Given the description of an element on the screen output the (x, y) to click on. 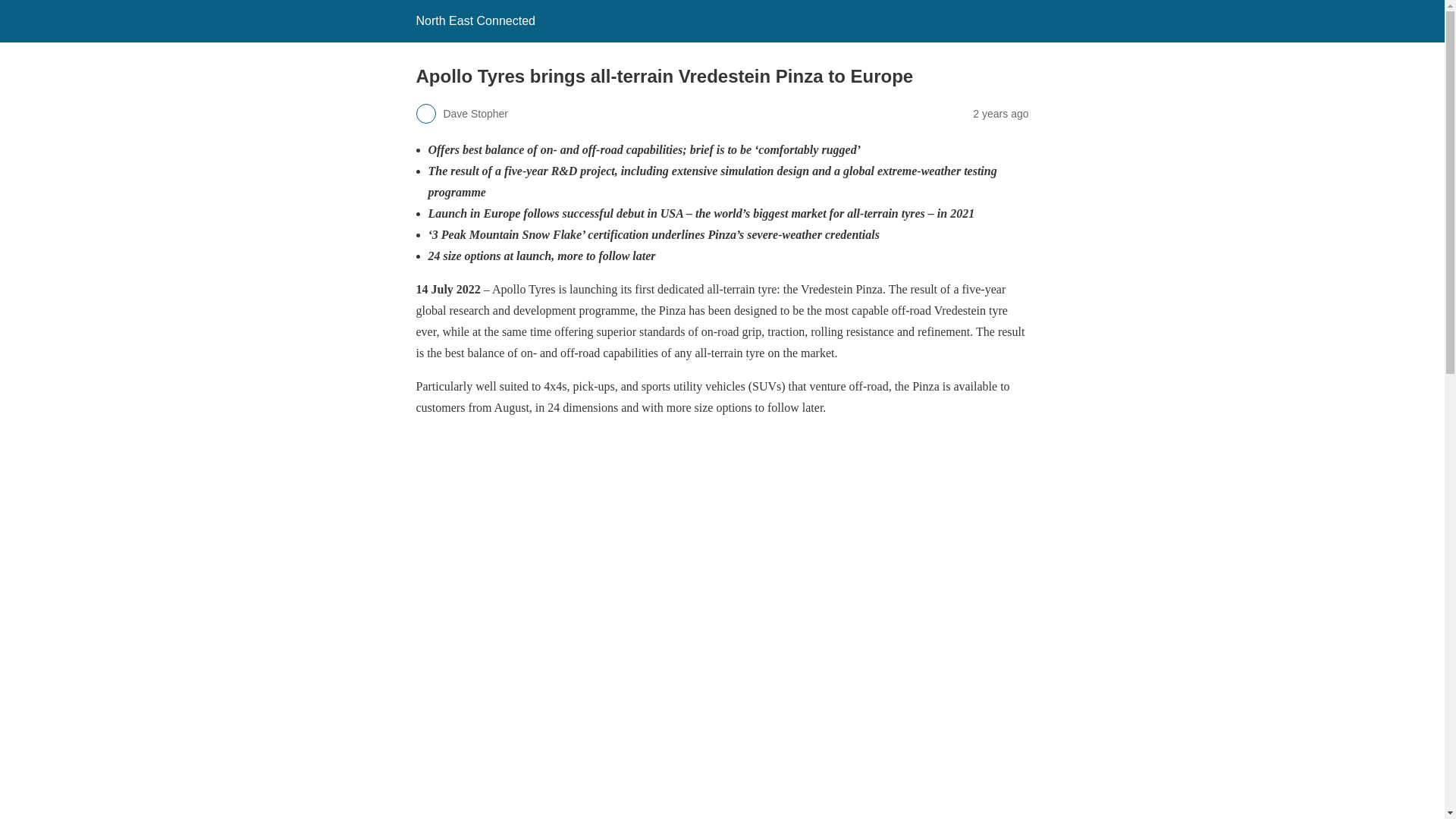
North East Connected (474, 20)
